Given the description of an element on the screen output the (x, y) to click on. 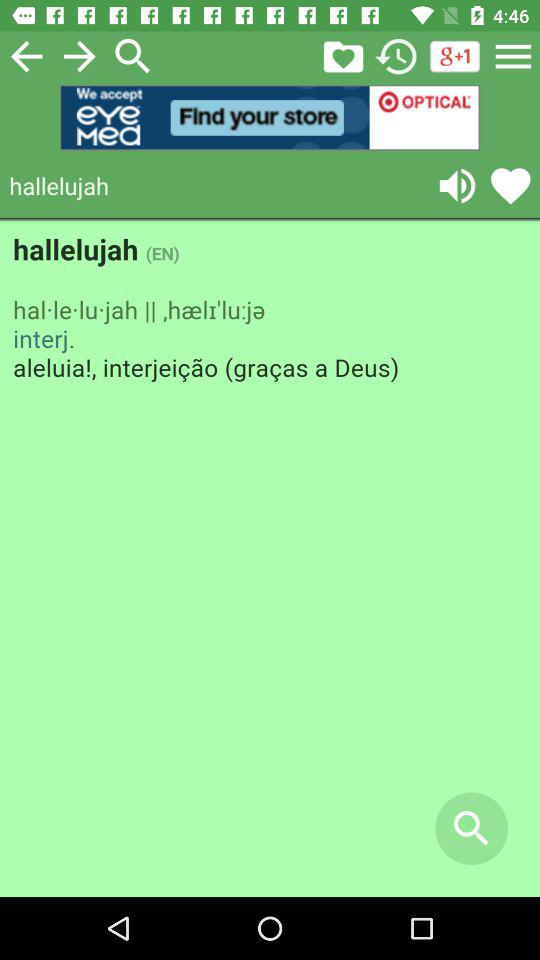
like song (510, 185)
